Given the description of an element on the screen output the (x, y) to click on. 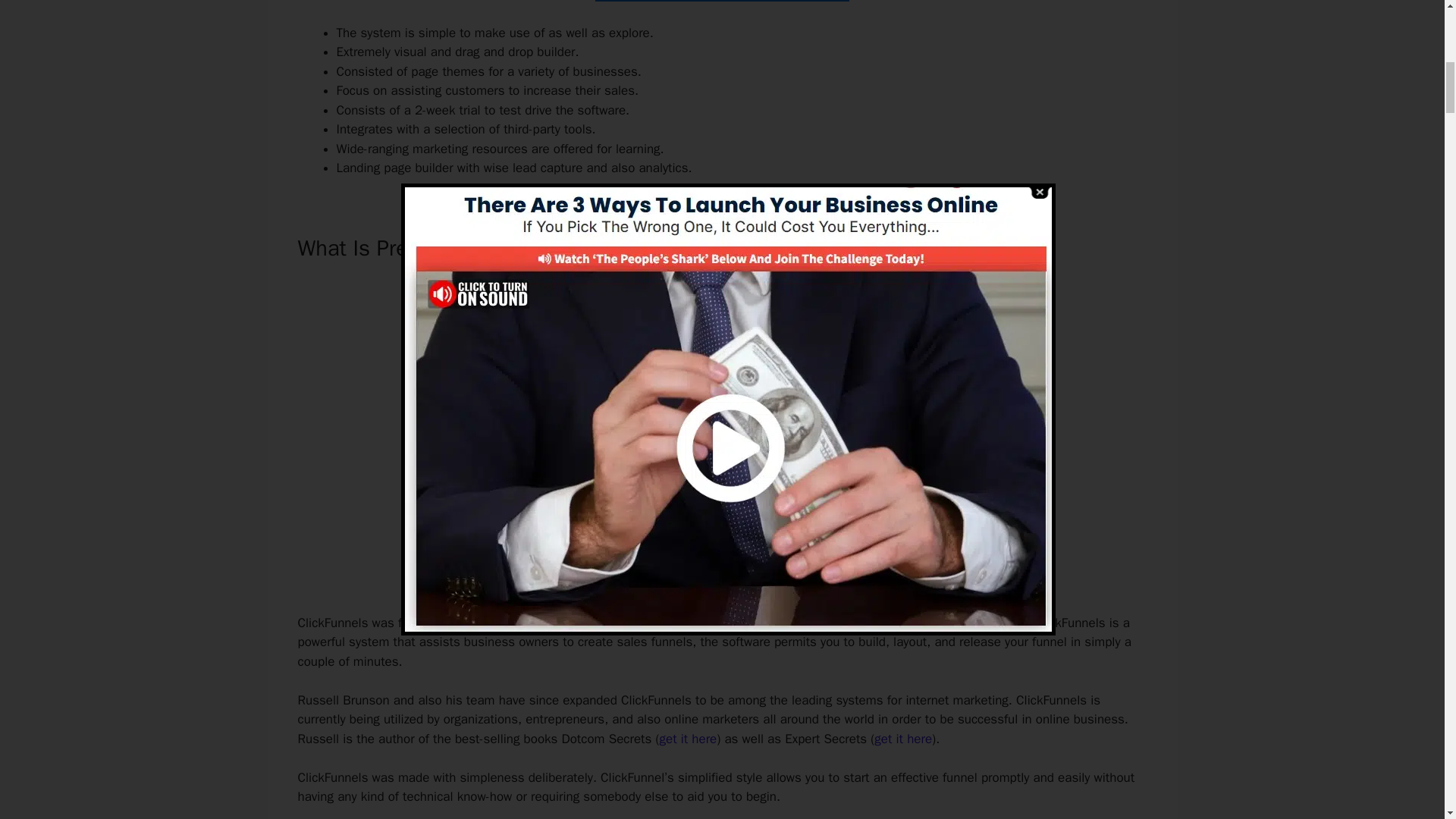
get it here (688, 738)
Watch Live Demo Here (721, 570)
get it here (903, 738)
